Given the description of an element on the screen output the (x, y) to click on. 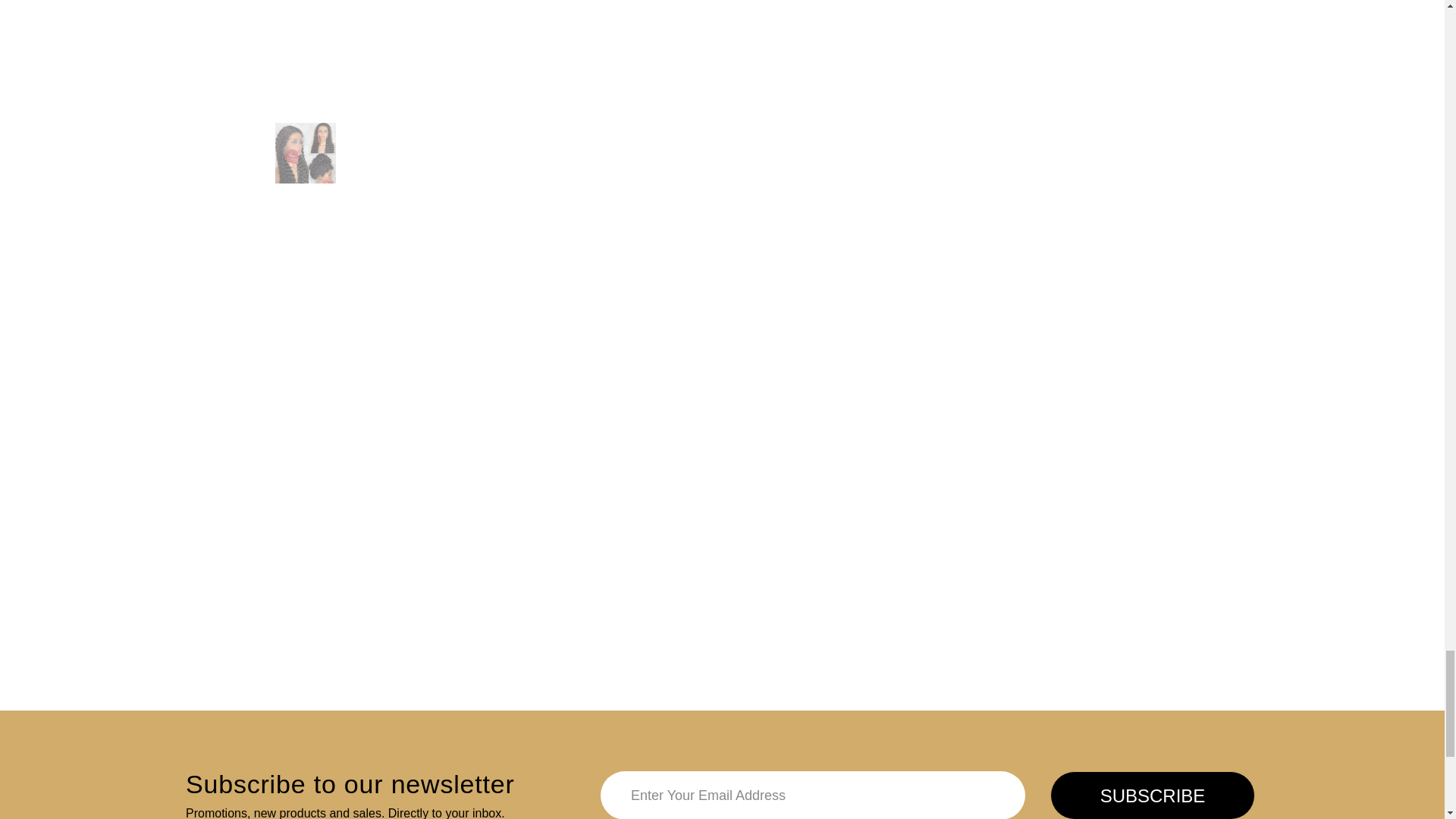
Subscribe (1152, 795)
